Given the description of an element on the screen output the (x, y) to click on. 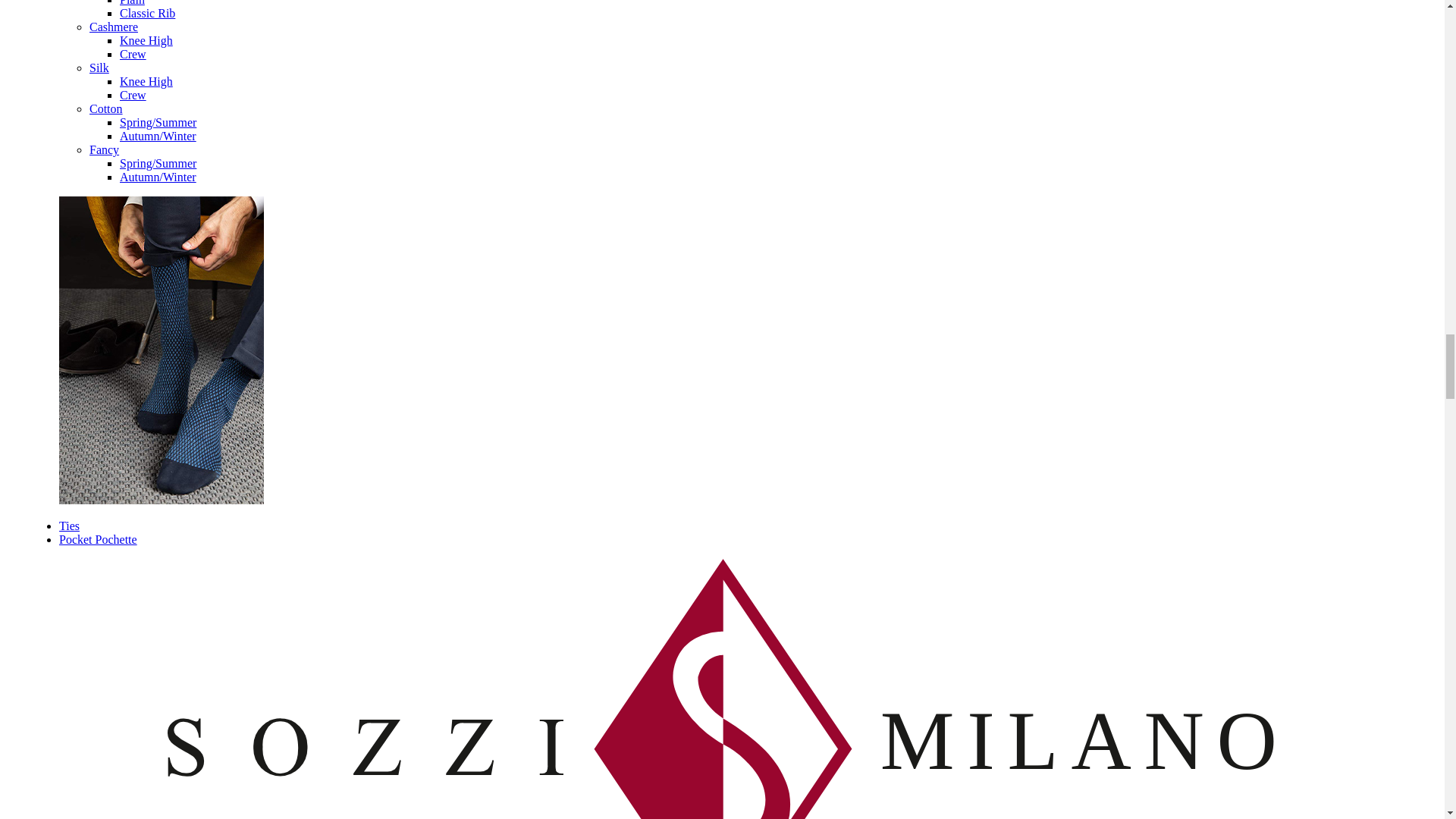
Crew (146, 40)
Silk (98, 67)
Crew (133, 53)
Knee High (146, 81)
Classic Rib (146, 12)
Silk Socks (98, 67)
Knee High (146, 40)
Plain (131, 2)
Fancy (103, 149)
Cashmere Socks (113, 26)
